Given the description of an element on the screen output the (x, y) to click on. 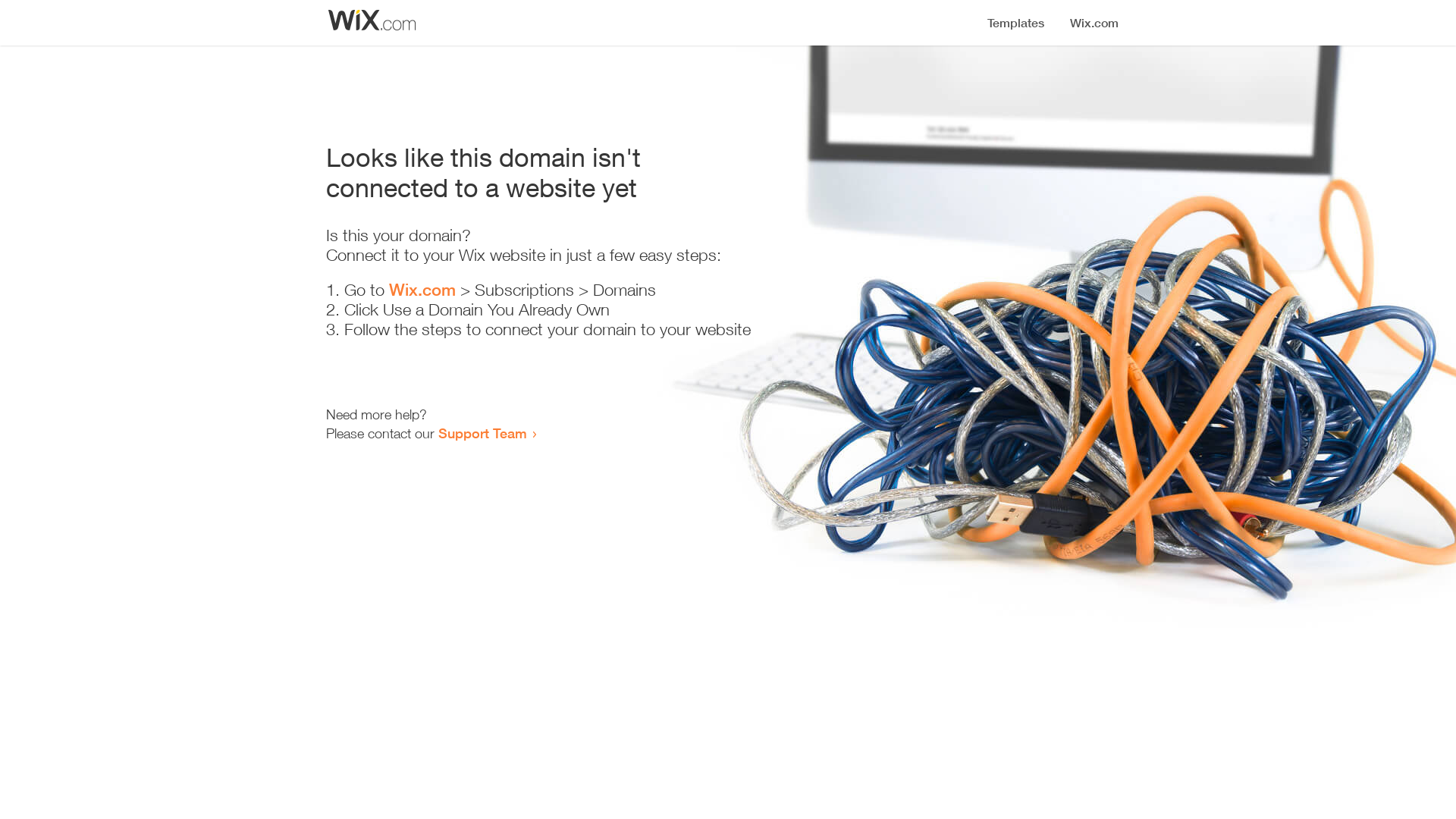
Wix.com Element type: text (422, 289)
Support Team Element type: text (482, 432)
